Given the description of an element on the screen output the (x, y) to click on. 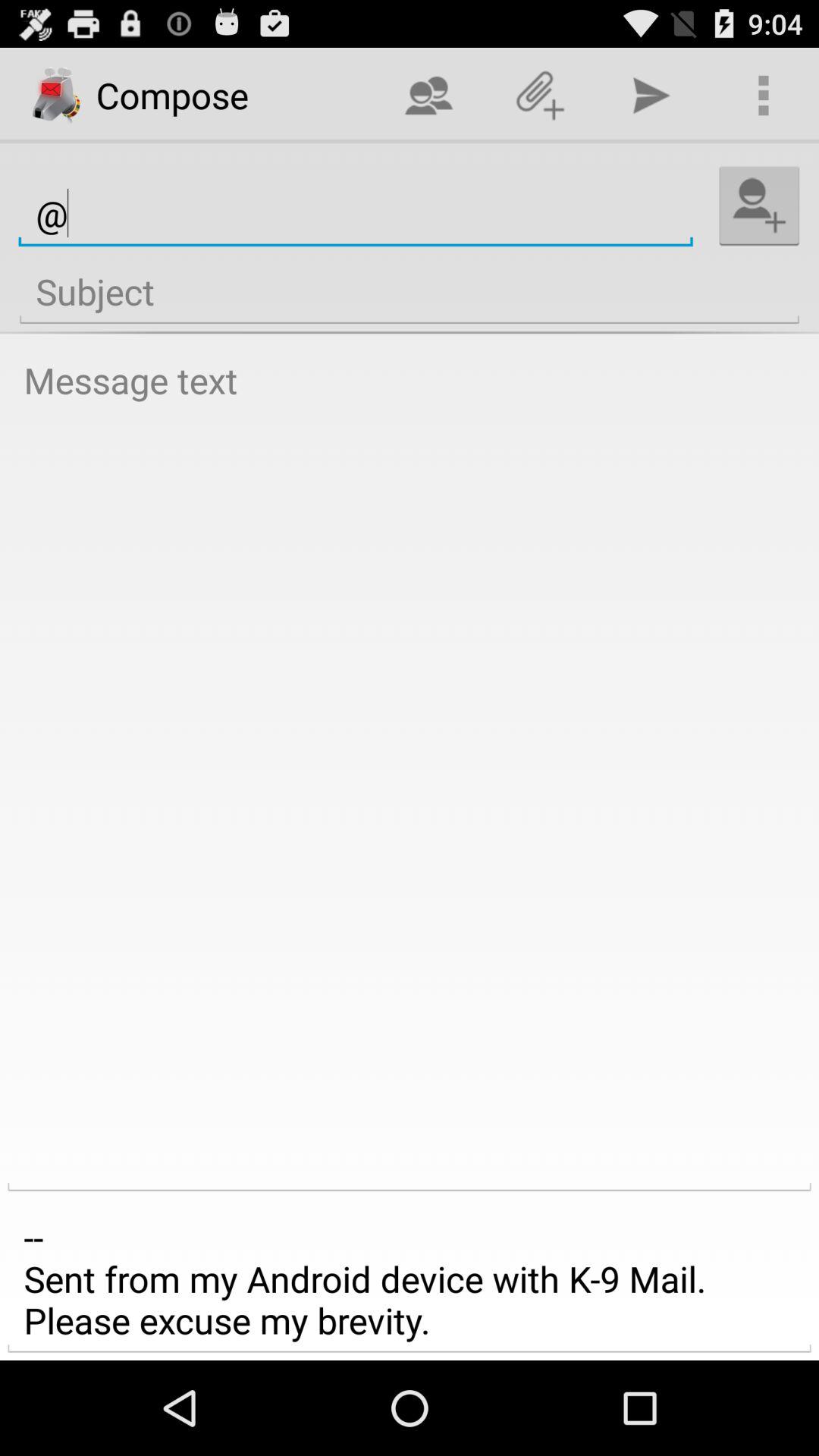
input message text (409, 769)
